Given the description of an element on the screen output the (x, y) to click on. 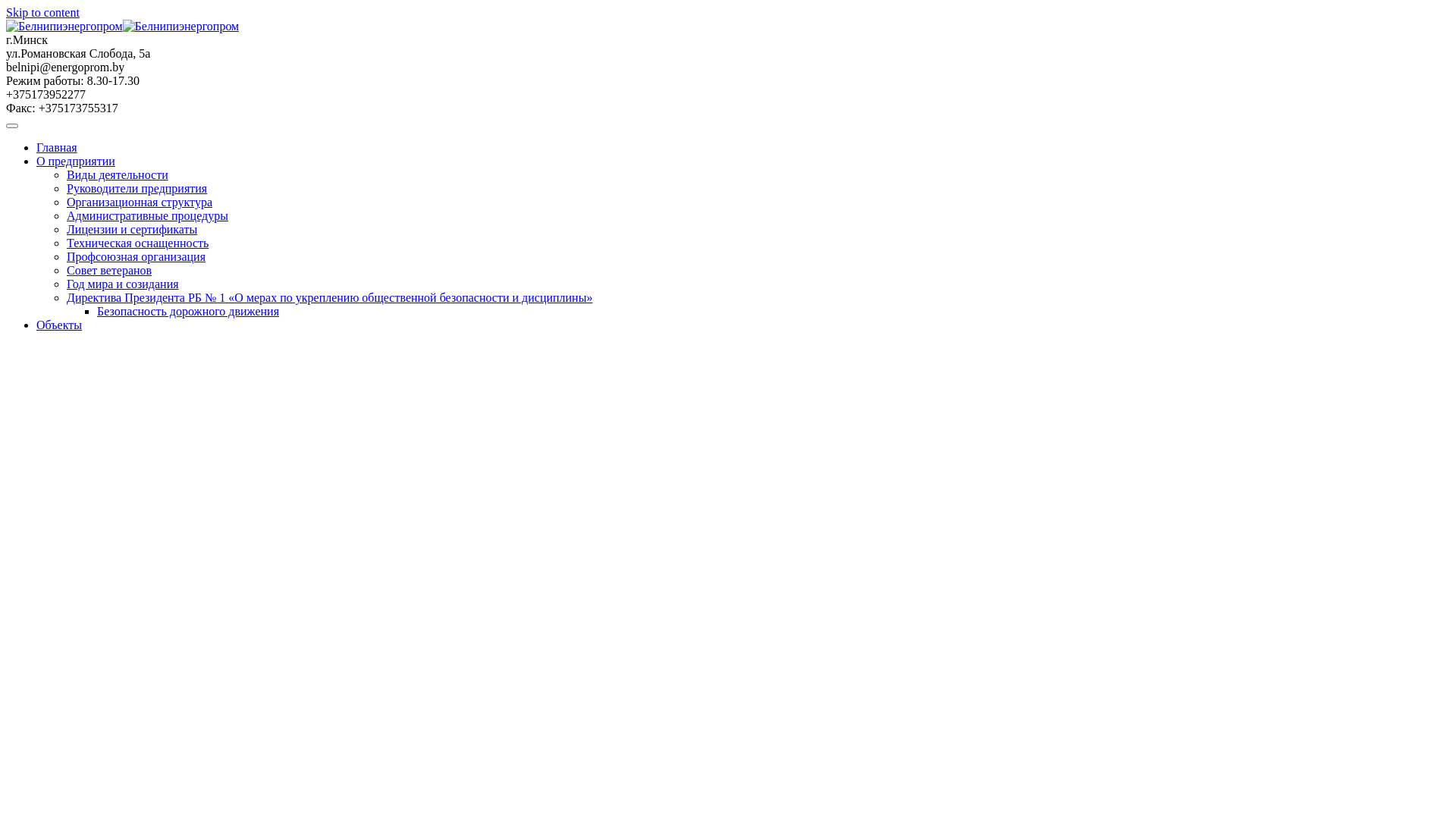
Skip to content Element type: text (42, 12)
